Given the description of an element on the screen output the (x, y) to click on. 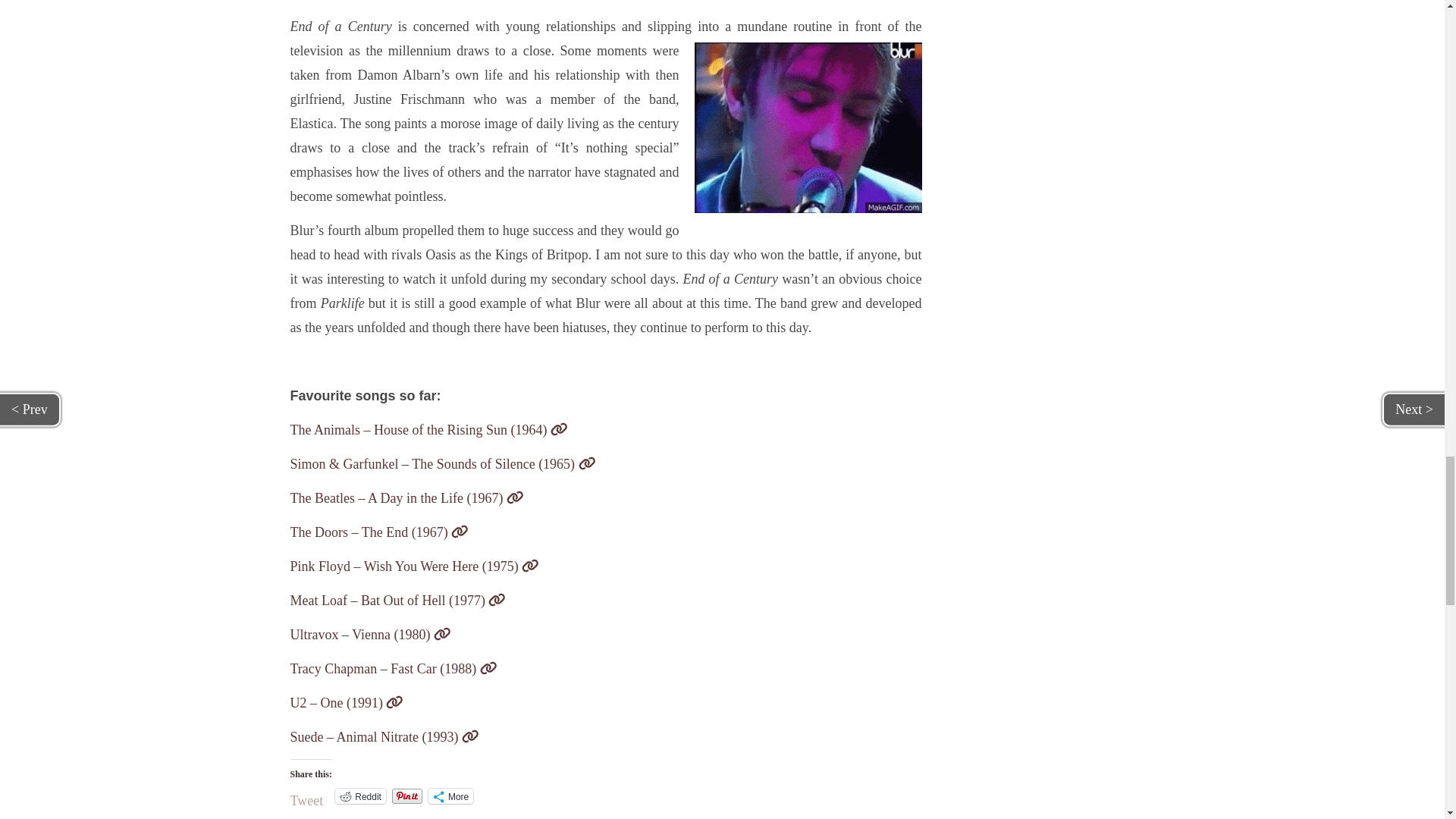
Click to share on Reddit (359, 795)
